Given the description of an element on the screen output the (x, y) to click on. 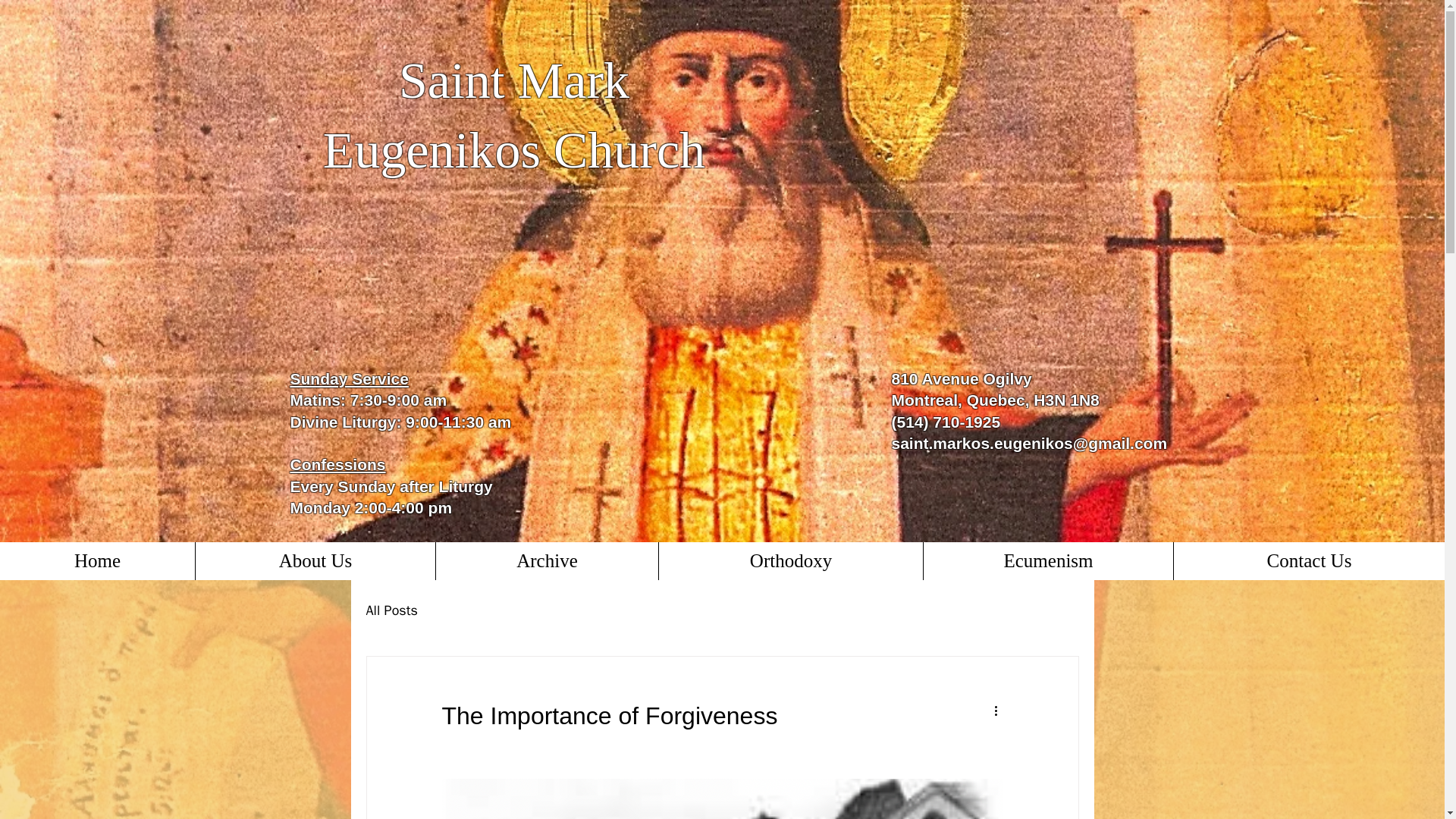
All Posts (390, 610)
Home (97, 560)
